Given the description of an element on the screen output the (x, y) to click on. 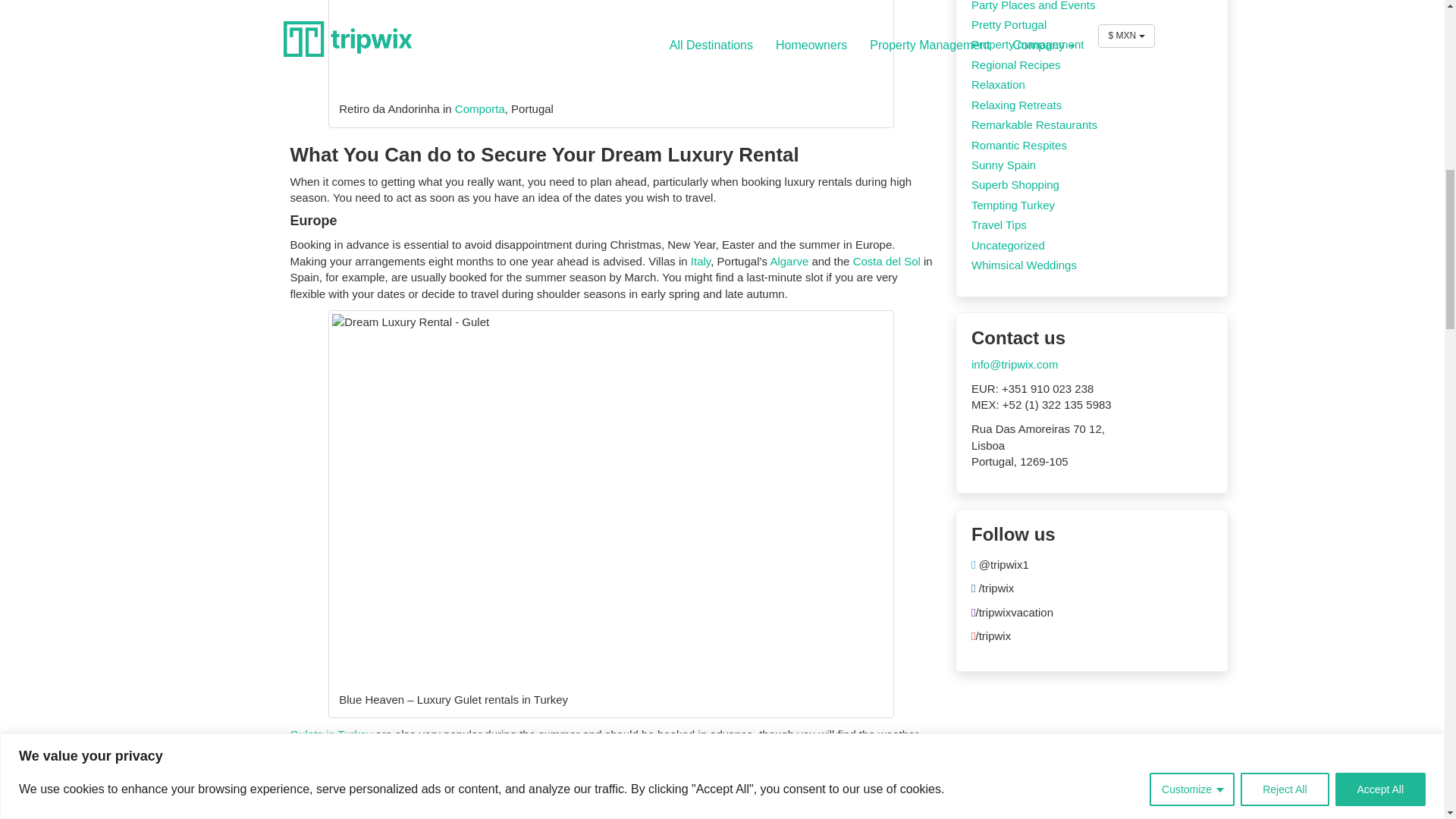
Gulets in Turkey (330, 734)
Mexico (411, 797)
Algarve (789, 260)
Costa del Sol (886, 260)
Italy (700, 260)
Comporta (479, 108)
